Given the description of an element on the screen output the (x, y) to click on. 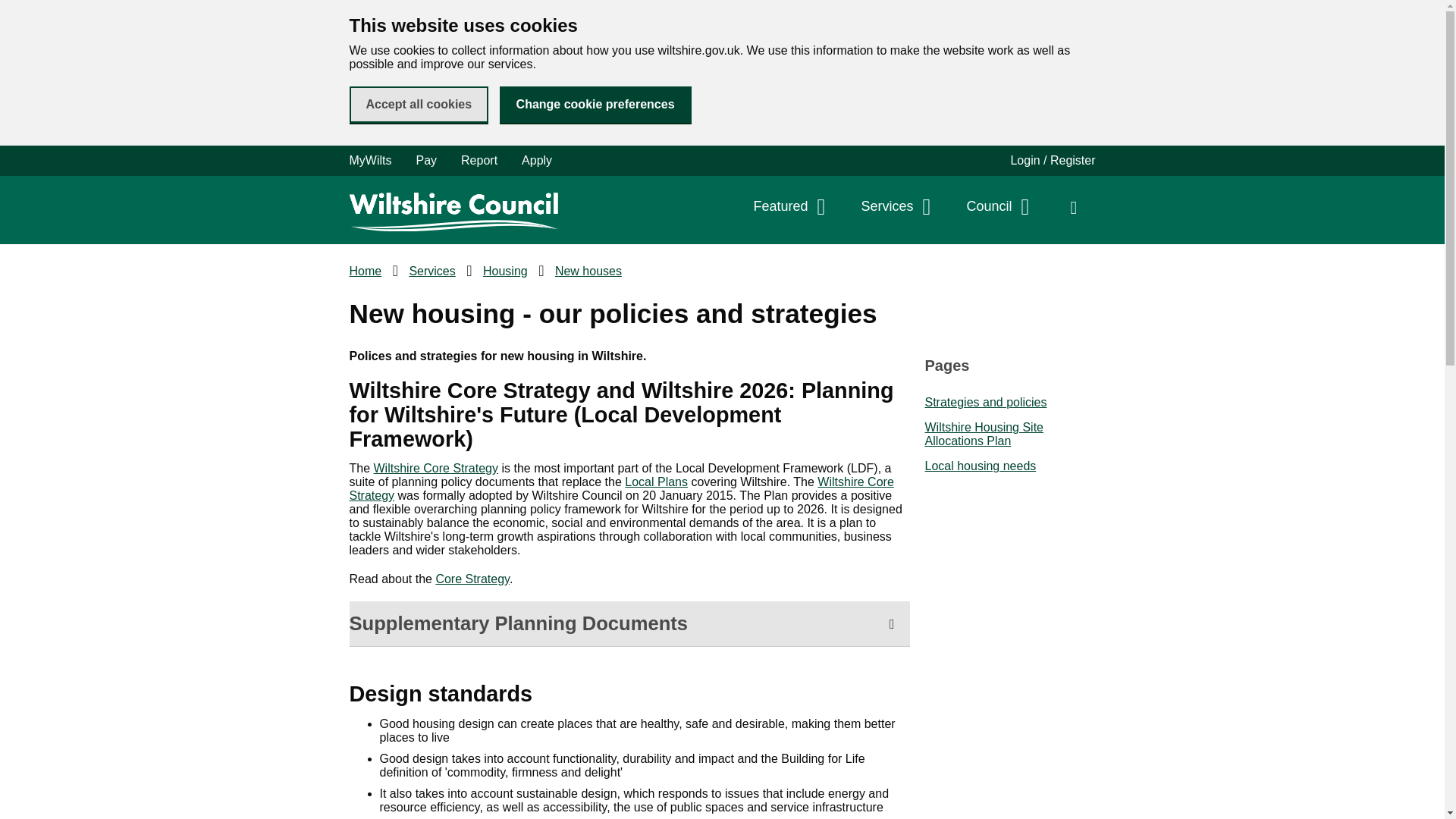
Accept all cookies (418, 104)
Pay (425, 160)
Services (897, 206)
MyWilts (376, 160)
Apply (536, 160)
Report (478, 160)
Featured (791, 206)
Skip to main content (11, 11)
Change cookie preferences (595, 104)
true (42, 18)
